Given the description of an element on the screen output the (x, y) to click on. 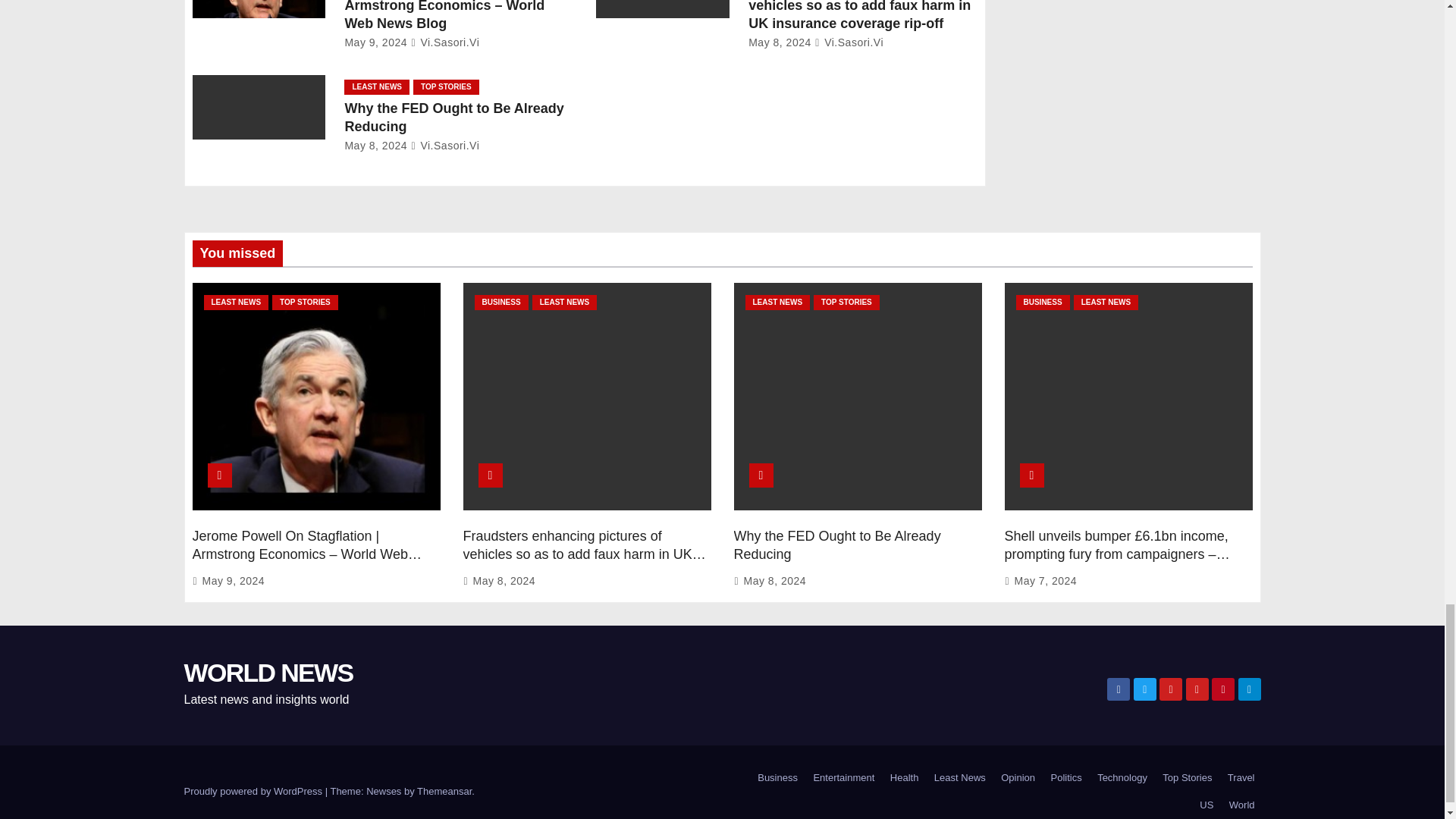
Permalink to: Why the FED Ought to Be Already Reducing (453, 117)
Permalink to: Why the FED Ought to Be Already Reducing (836, 544)
